Given the description of an element on the screen output the (x, y) to click on. 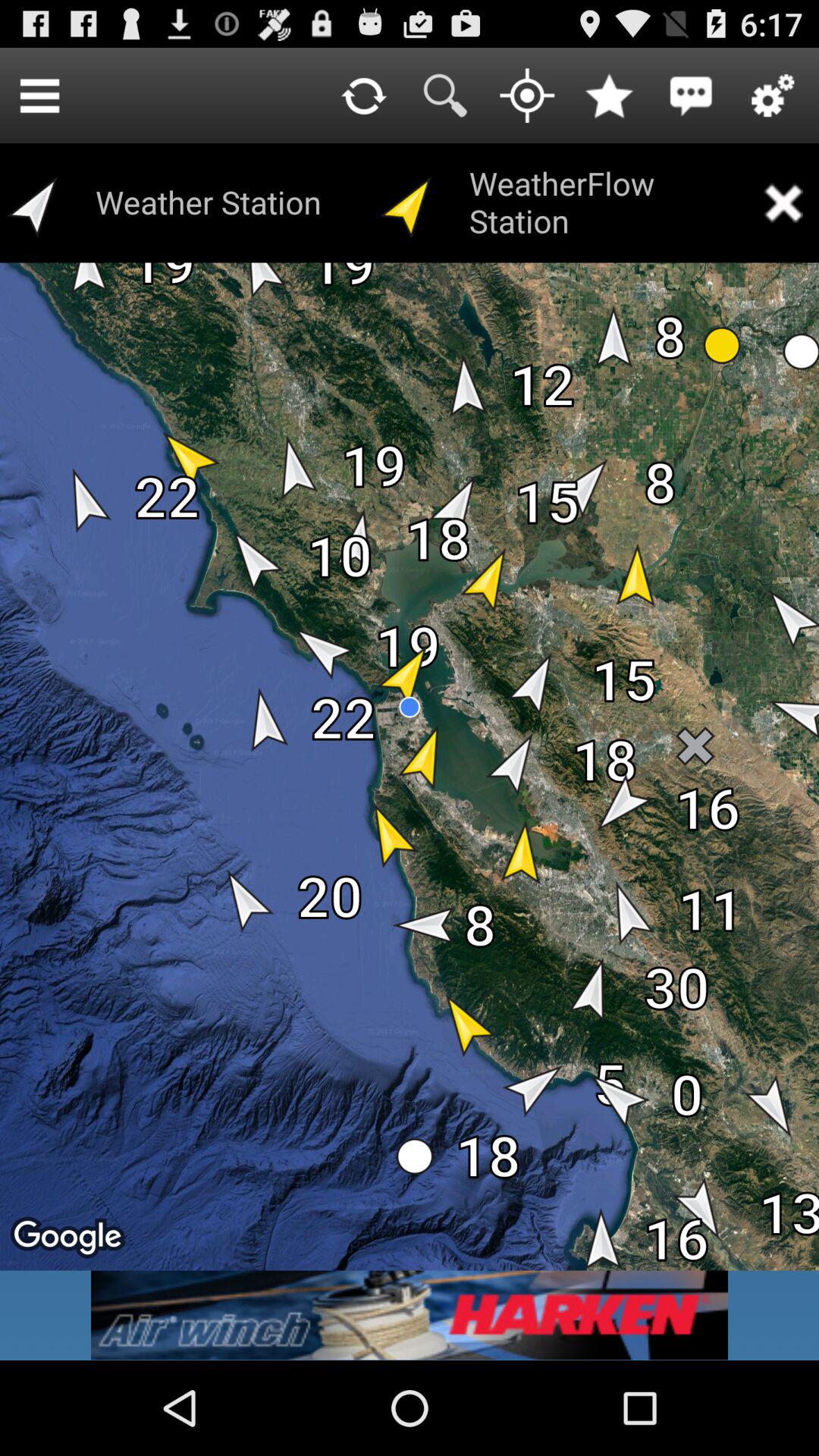
open menu (39, 95)
